Given the description of an element on the screen output the (x, y) to click on. 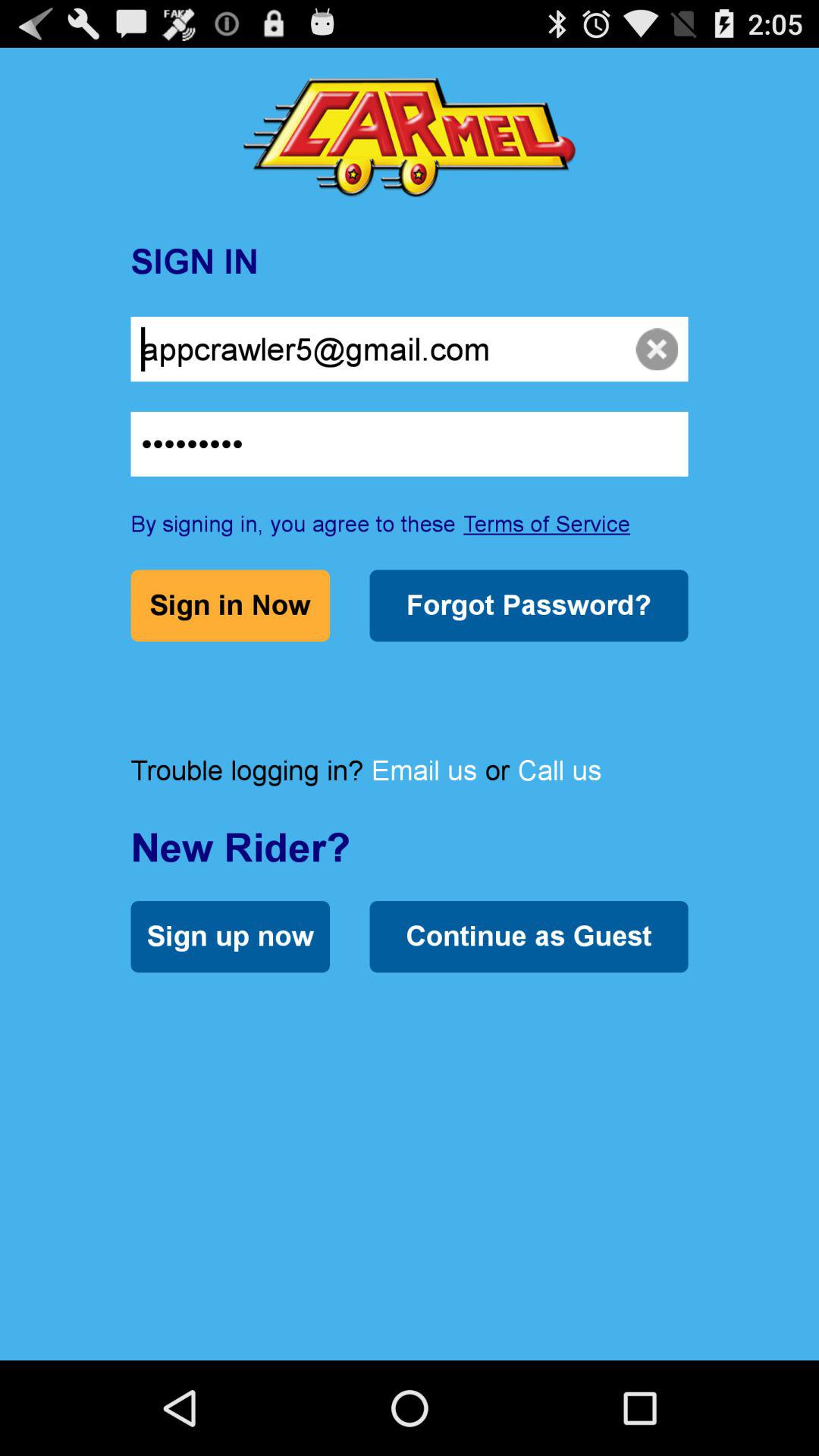
select the icon next to or item (424, 770)
